Given the description of an element on the screen output the (x, y) to click on. 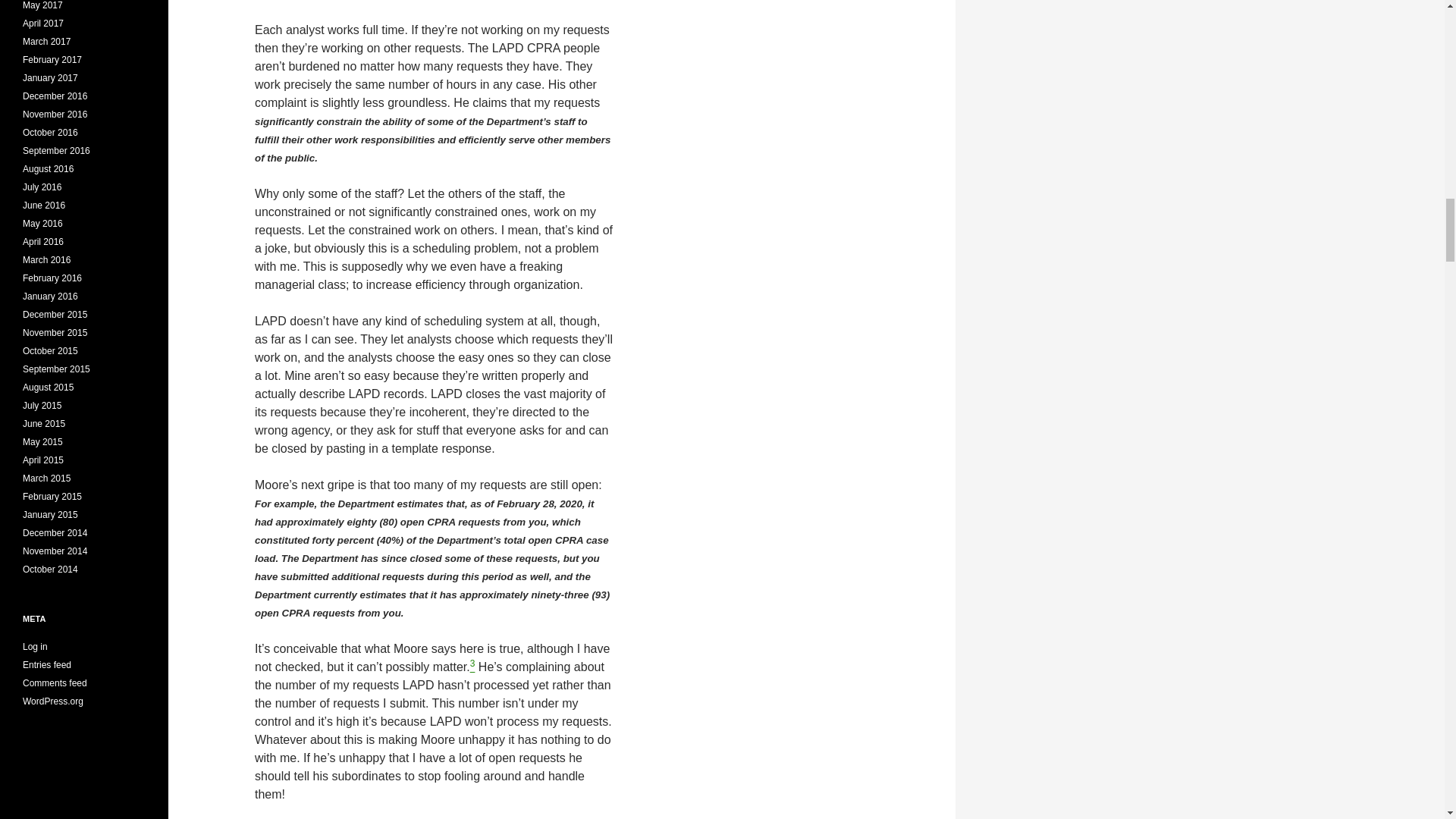
3 (473, 666)
